Given the description of an element on the screen output the (x, y) to click on. 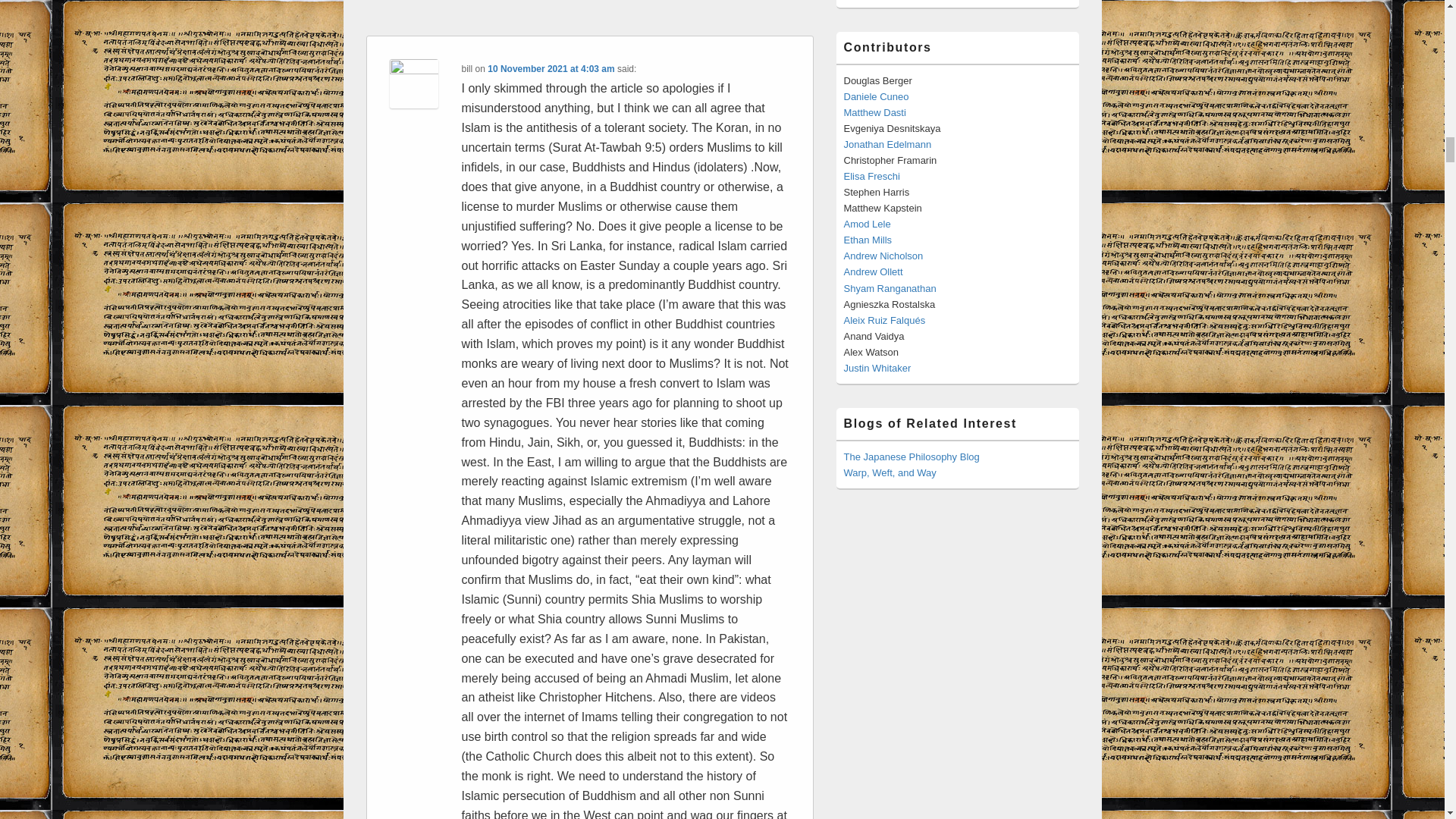
10 November 2021 at 4:03 am (550, 68)
